Given the description of an element on the screen output the (x, y) to click on. 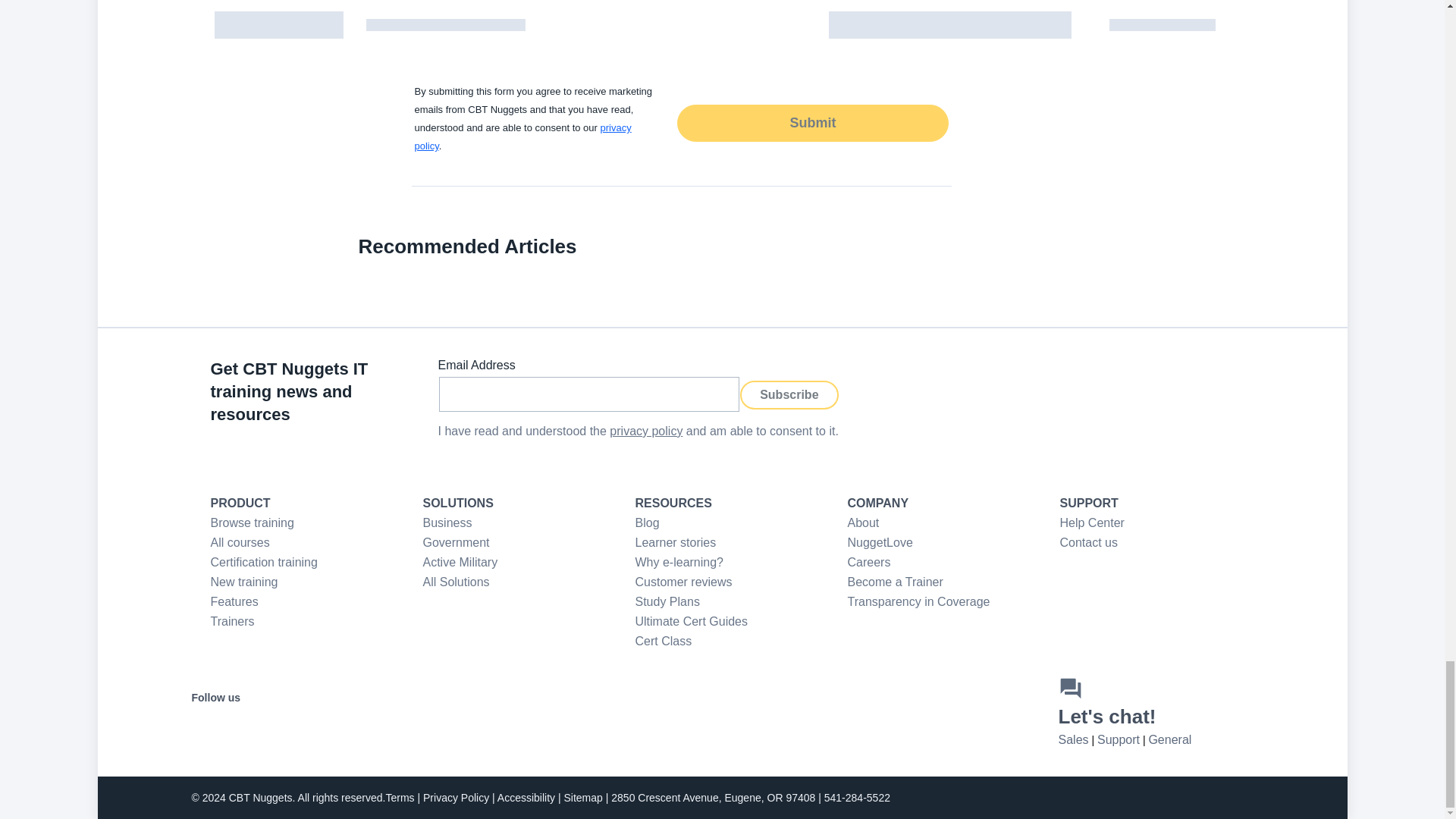
Submit (812, 122)
New training (244, 581)
Features (235, 601)
Certification training (264, 562)
privacy policy (646, 431)
All courses (240, 542)
Trainers (232, 621)
Government (456, 542)
Subscribe (788, 394)
privacy policy (521, 136)
Browse training (252, 522)
Business (447, 522)
